Given the description of an element on the screen output the (x, y) to click on. 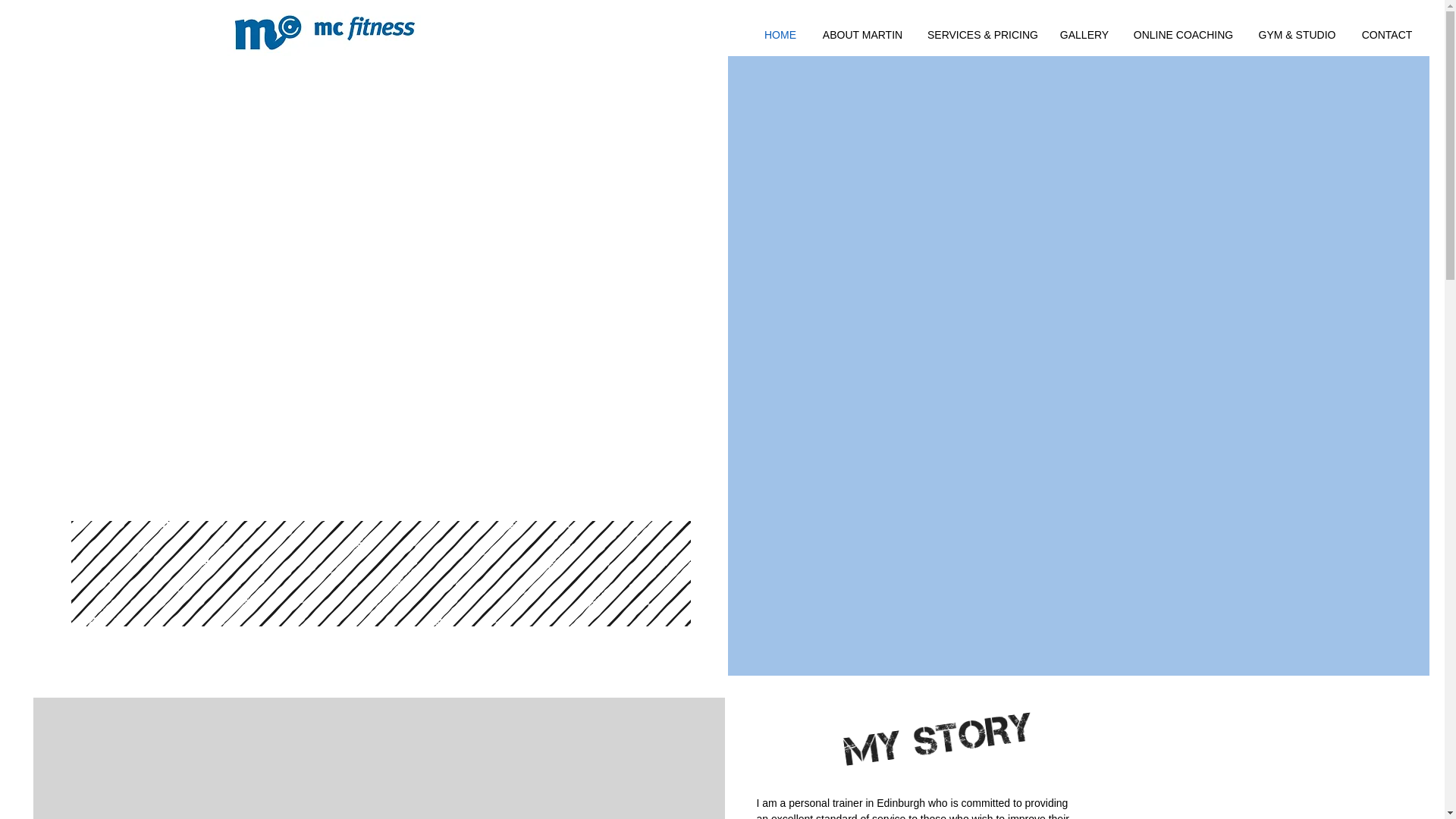
GALLERY (1084, 34)
CONTACT (1386, 34)
ONLINE COACHING (1183, 34)
HOME (780, 34)
ABOUT MARTIN (862, 34)
